Given the description of an element on the screen output the (x, y) to click on. 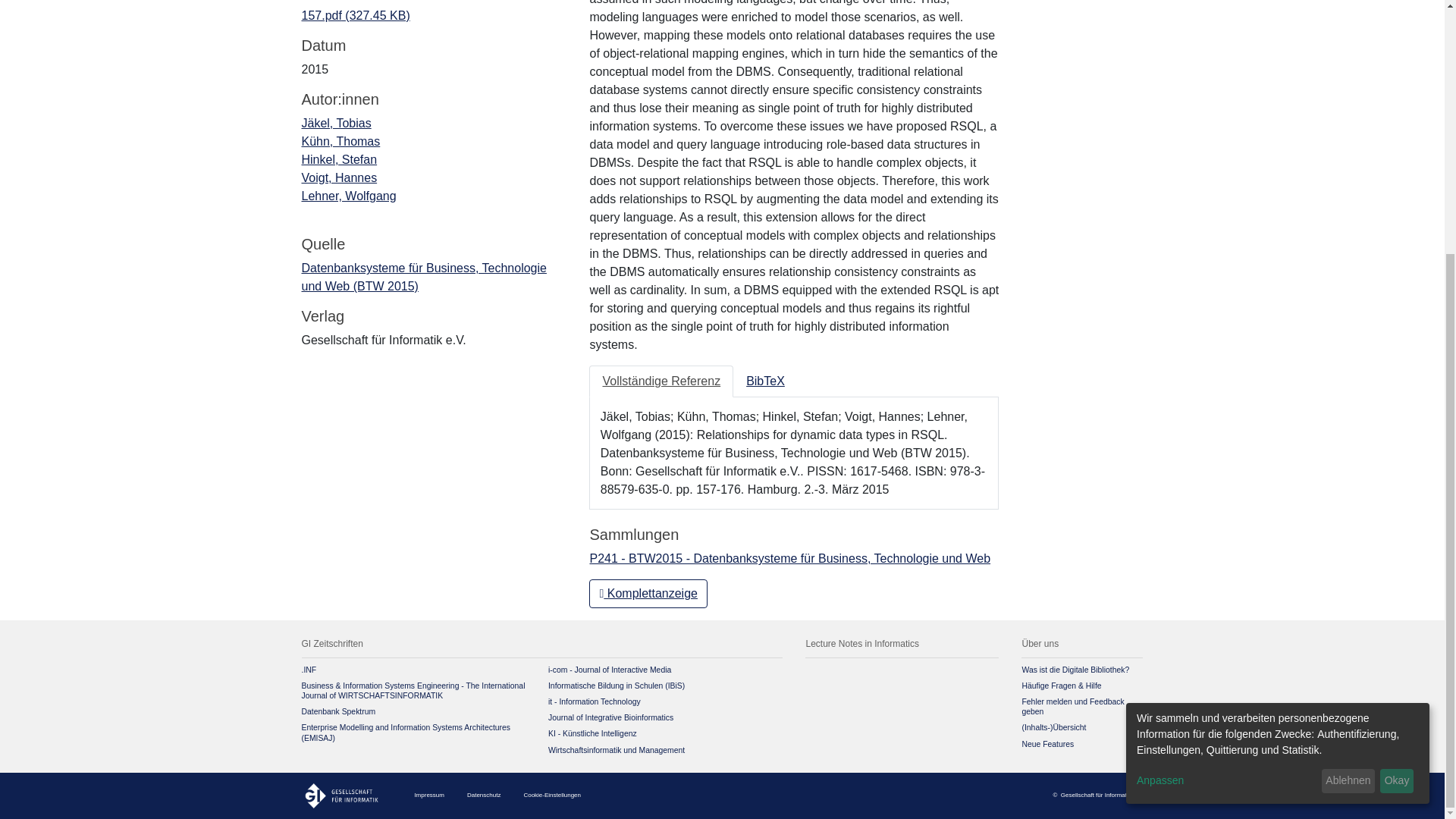
i-com - Journal of Interactive Media (609, 669)
BibTeX (765, 381)
it - Information Technology (594, 701)
Lehner, Wolfgang (348, 195)
Datenbank Spektrum (338, 711)
Neue Features (1048, 744)
Komplettanzeige (647, 593)
Was ist die Digitale Bibliothek? (1075, 669)
Wirtschaftsinformatik und Management (616, 750)
Voigt, Hannes (339, 177)
